Given the description of an element on the screen output the (x, y) to click on. 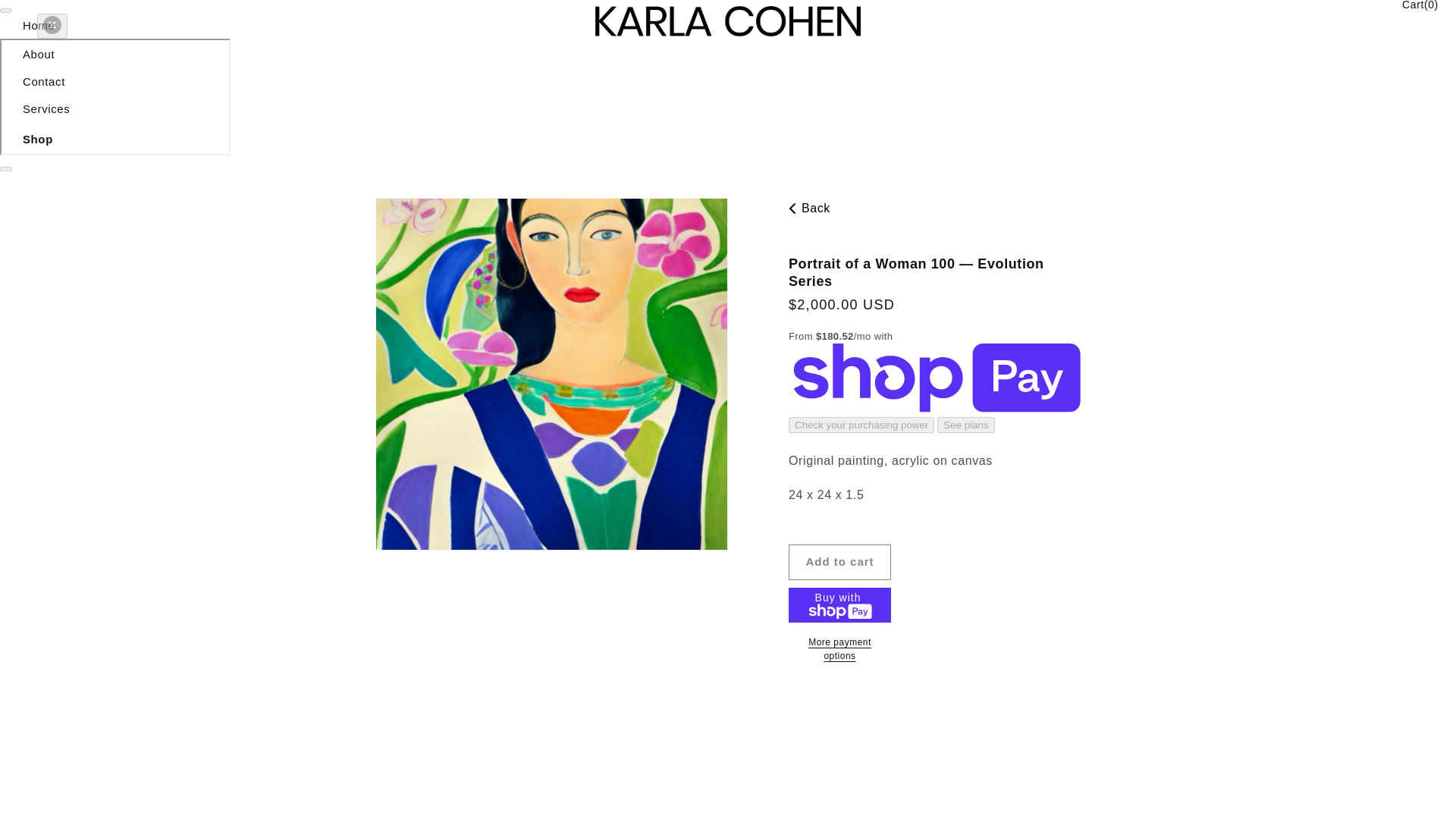
Add to cart (840, 561)
Shop (37, 138)
Home (39, 24)
Skip to content (45, 17)
More payment options (840, 648)
Back (931, 209)
Skip to product information (420, 214)
